Given the description of an element on the screen output the (x, y) to click on. 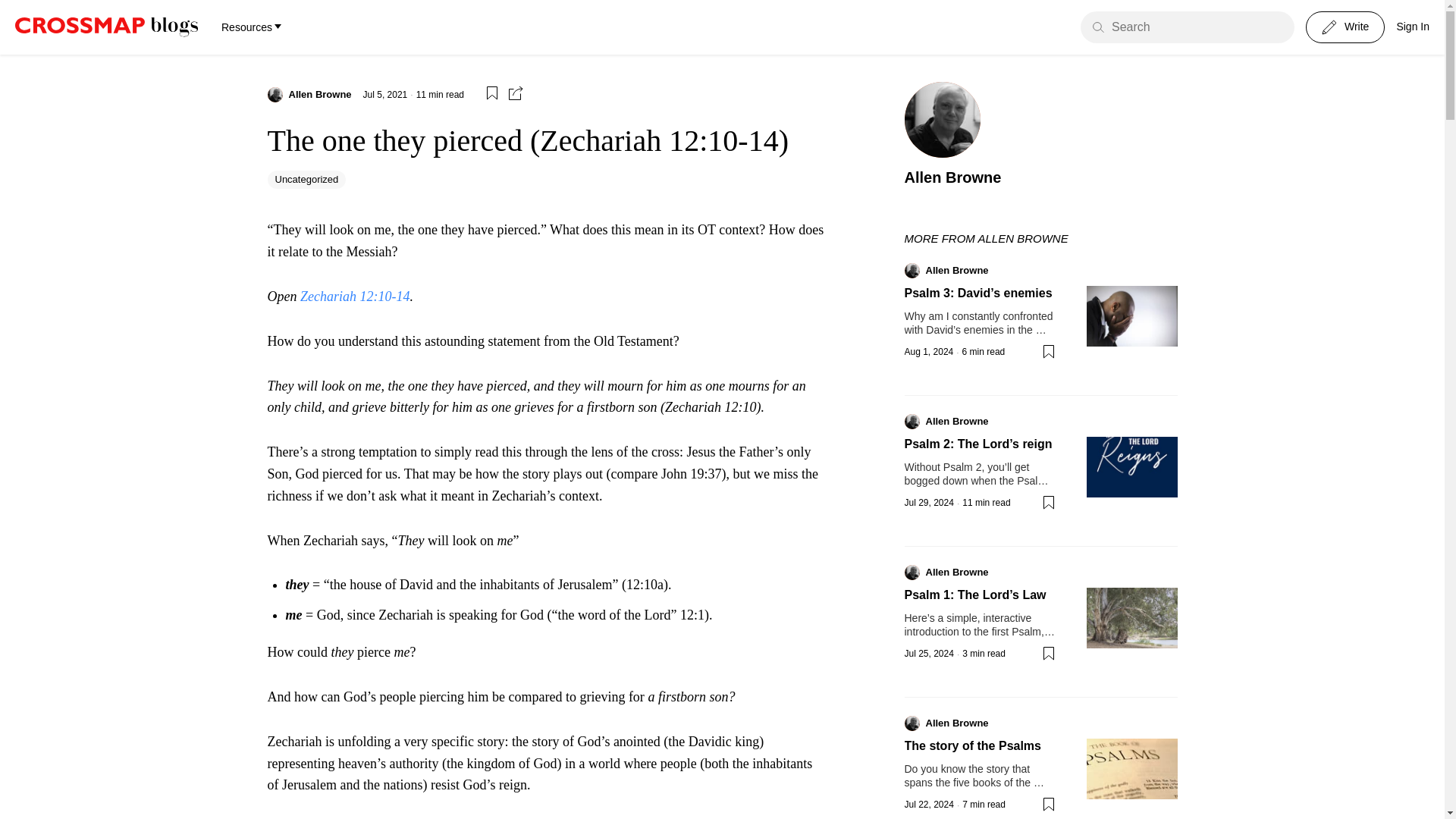
Resources (251, 27)
Write (1345, 27)
Uncategorized (306, 179)
Zechariah 12:10-14 (354, 296)
Sign In (1412, 27)
Allen Browne (319, 94)
